Given the description of an element on the screen output the (x, y) to click on. 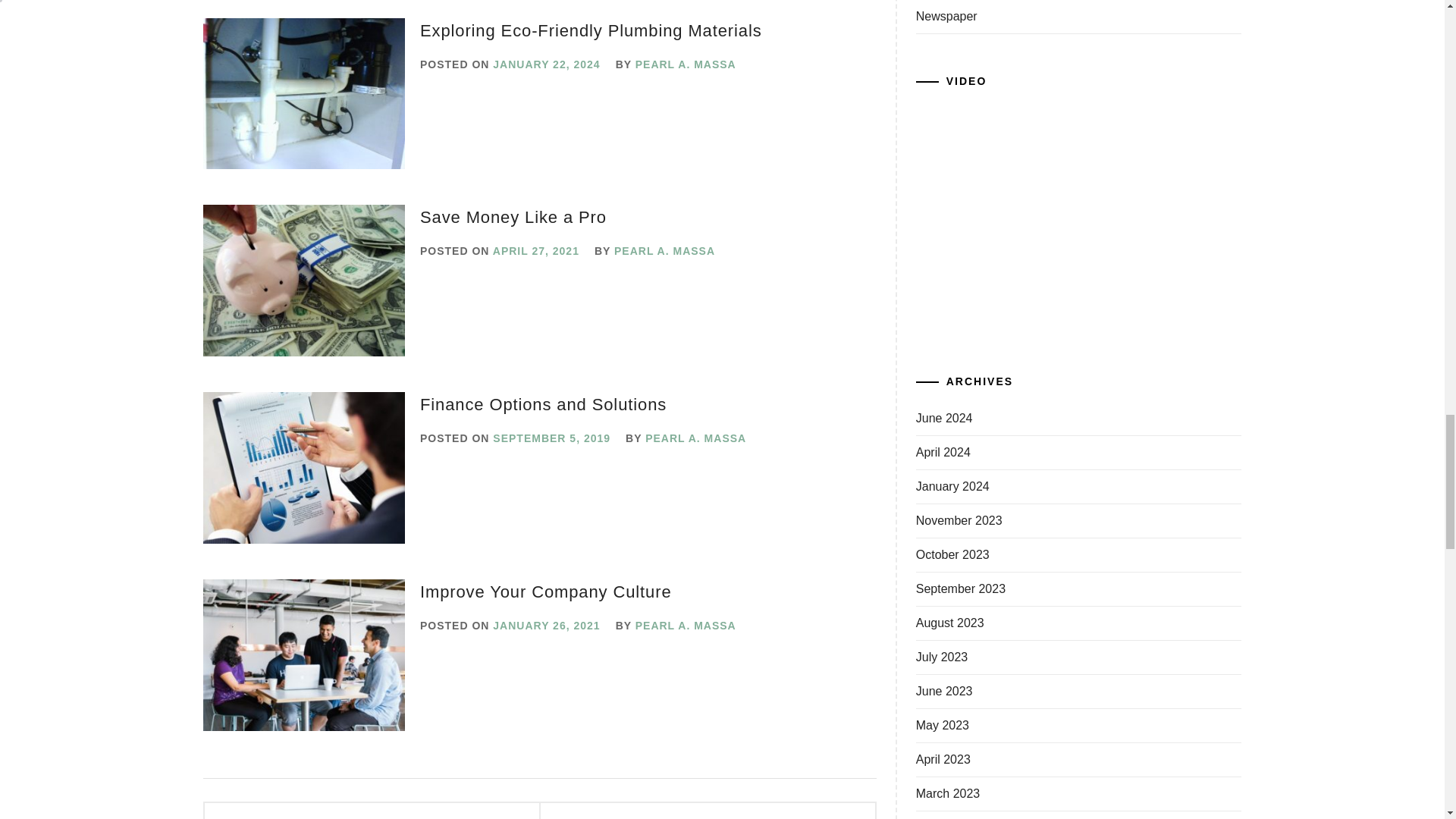
PEARL A. MASSA (664, 250)
Save Money Like a Pro (513, 217)
APRIL 27, 2021 (536, 250)
JANUARY 22, 2024 (546, 64)
Finance Options and Solutions (543, 404)
SEPTEMBER 5, 2019 (551, 438)
Improve Your Company Culture (545, 591)
PEARL A. MASSA (685, 64)
PEARL A. MASSA (685, 625)
Exploring Eco-Friendly Plumbing Materials (590, 30)
JANUARY 26, 2021 (546, 625)
BREAKFAST IS IMPORTANT (314, 817)
PEARL A. MASSA (695, 438)
